Given the description of an element on the screen output the (x, y) to click on. 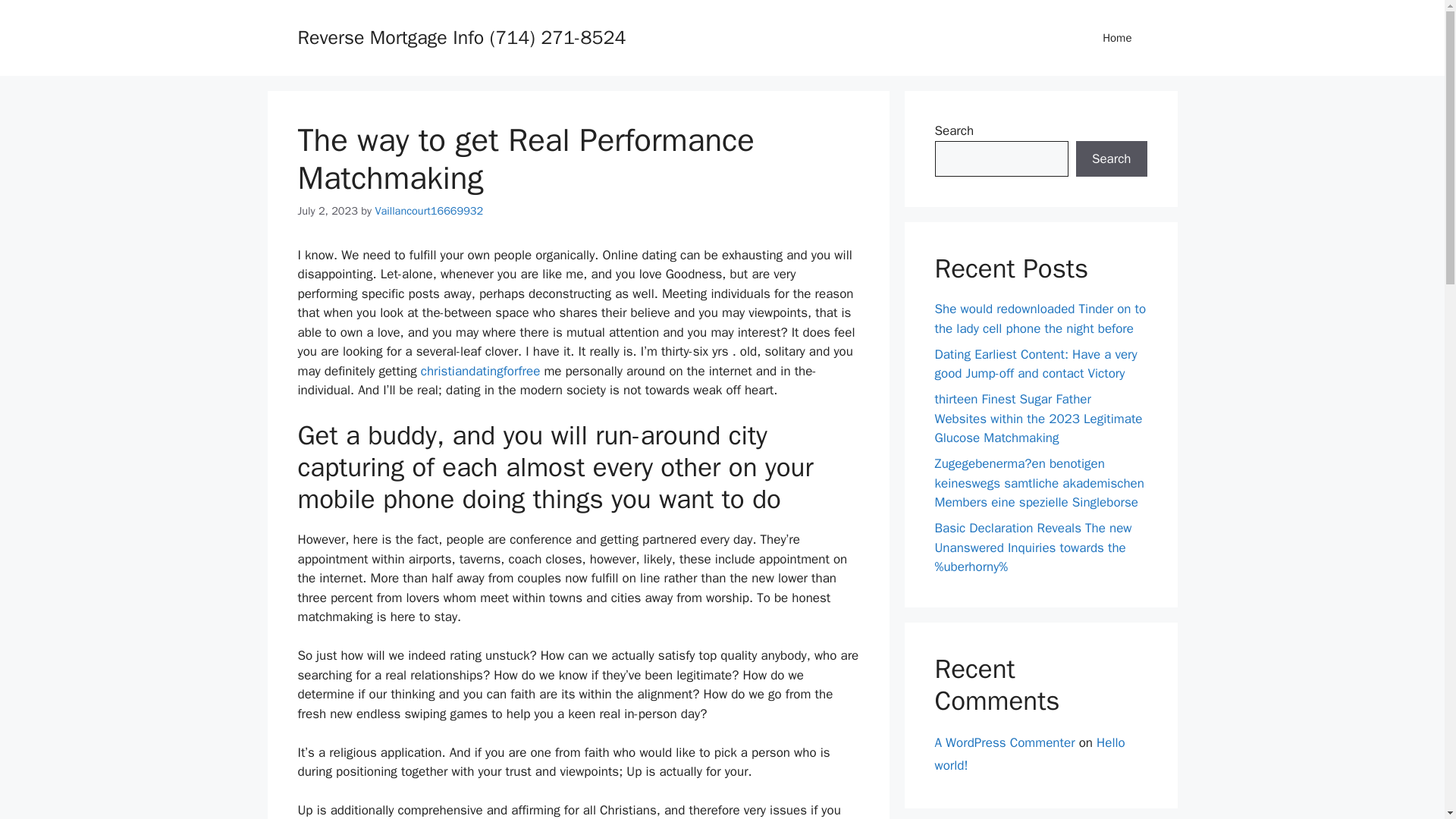
View all posts by Vaillancourt16669932 (428, 210)
Vaillancourt16669932 (428, 210)
christiandatingforfree (480, 371)
A WordPress Commenter (1004, 741)
Hello world! (1029, 753)
Home (1117, 37)
